Given the description of an element on the screen output the (x, y) to click on. 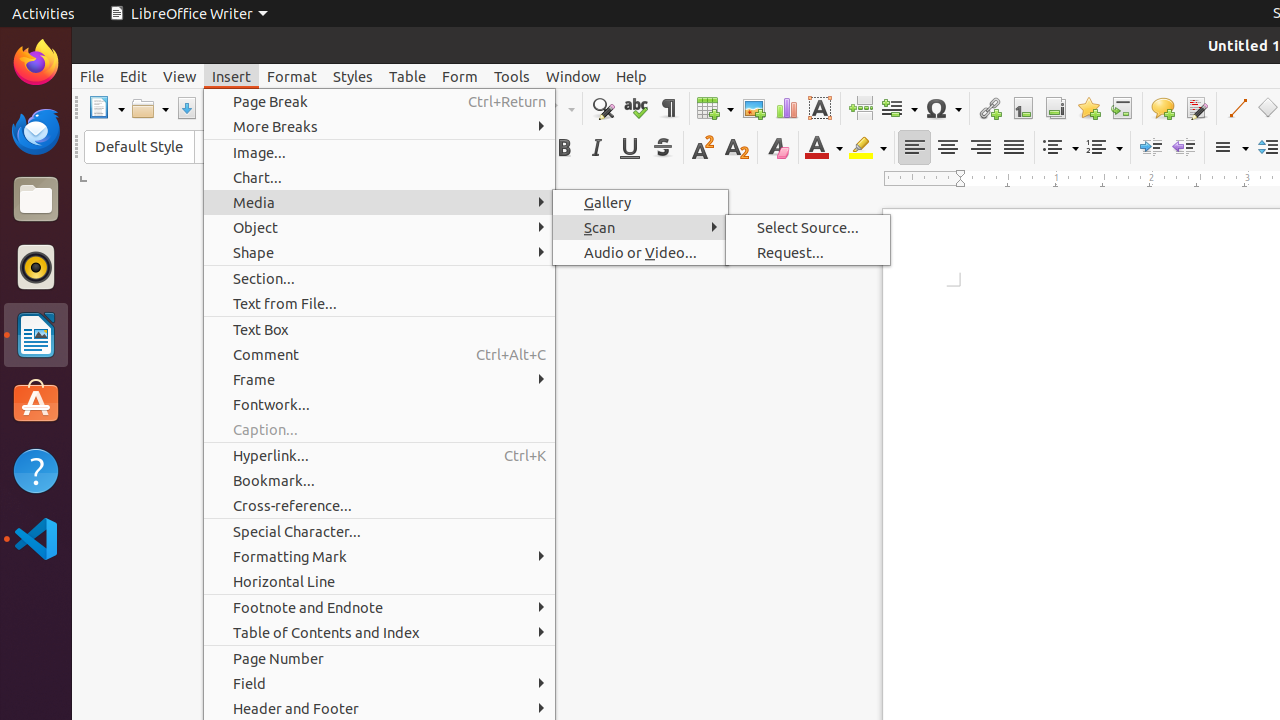
Audio or Video... Element type: menu-item (640, 252)
Thunderbird Mail Element type: push-button (36, 131)
Select Source... Element type: menu-item (808, 227)
Underline Element type: push-button (629, 147)
Text from File... Element type: menu-item (379, 303)
